Given the description of an element on the screen output the (x, y) to click on. 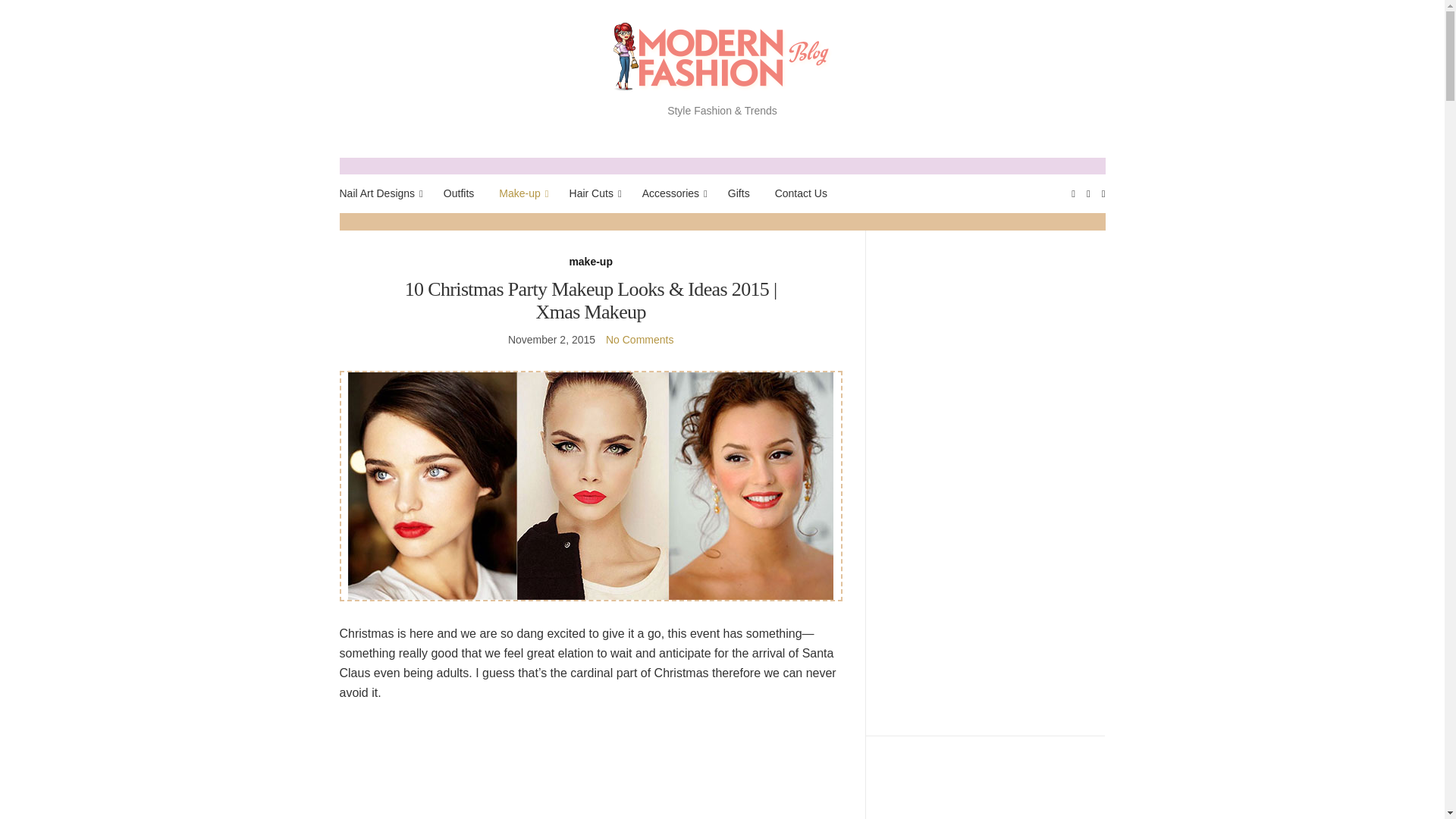
Nail Art Designs (379, 193)
Contact Us (800, 193)
make-up (590, 262)
Accessories (672, 193)
Hair Cuts (593, 193)
Make-up (521, 193)
No Comments (638, 339)
Outfits (459, 193)
Gifts (738, 193)
